Given the description of an element on the screen output the (x, y) to click on. 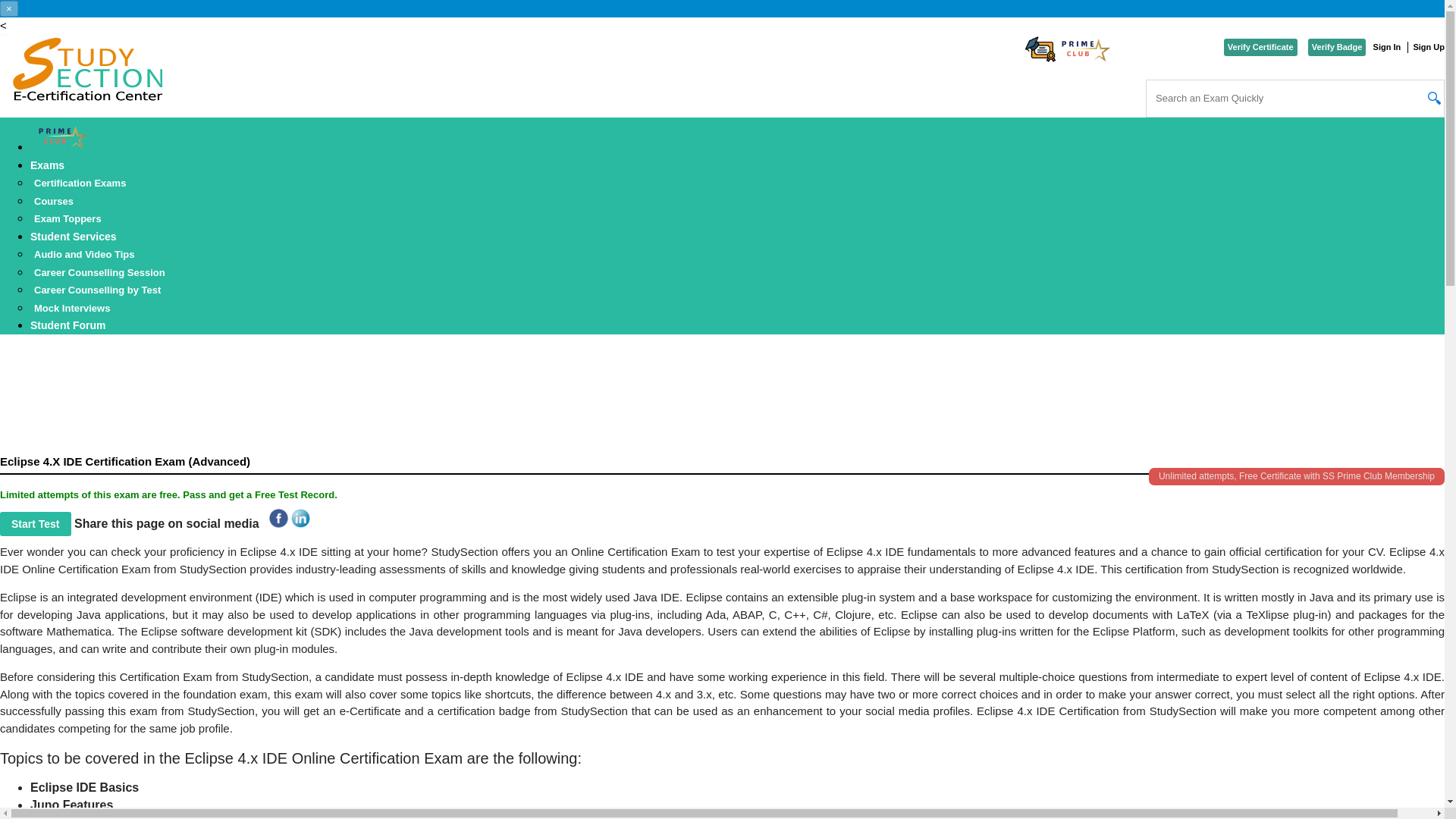
Career Counselling by Test (97, 289)
Exam Toppers (67, 218)
Certification Exams (79, 182)
Student Forum (68, 325)
Verify Certificate (1260, 47)
Homepage (85, 72)
Exams (47, 164)
Courses (53, 200)
Certification Exams (79, 182)
Student Forum (68, 325)
Personalized Counselling (99, 272)
Sign In (1386, 47)
Mock Interviews (71, 307)
